Given the description of an element on the screen output the (x, y) to click on. 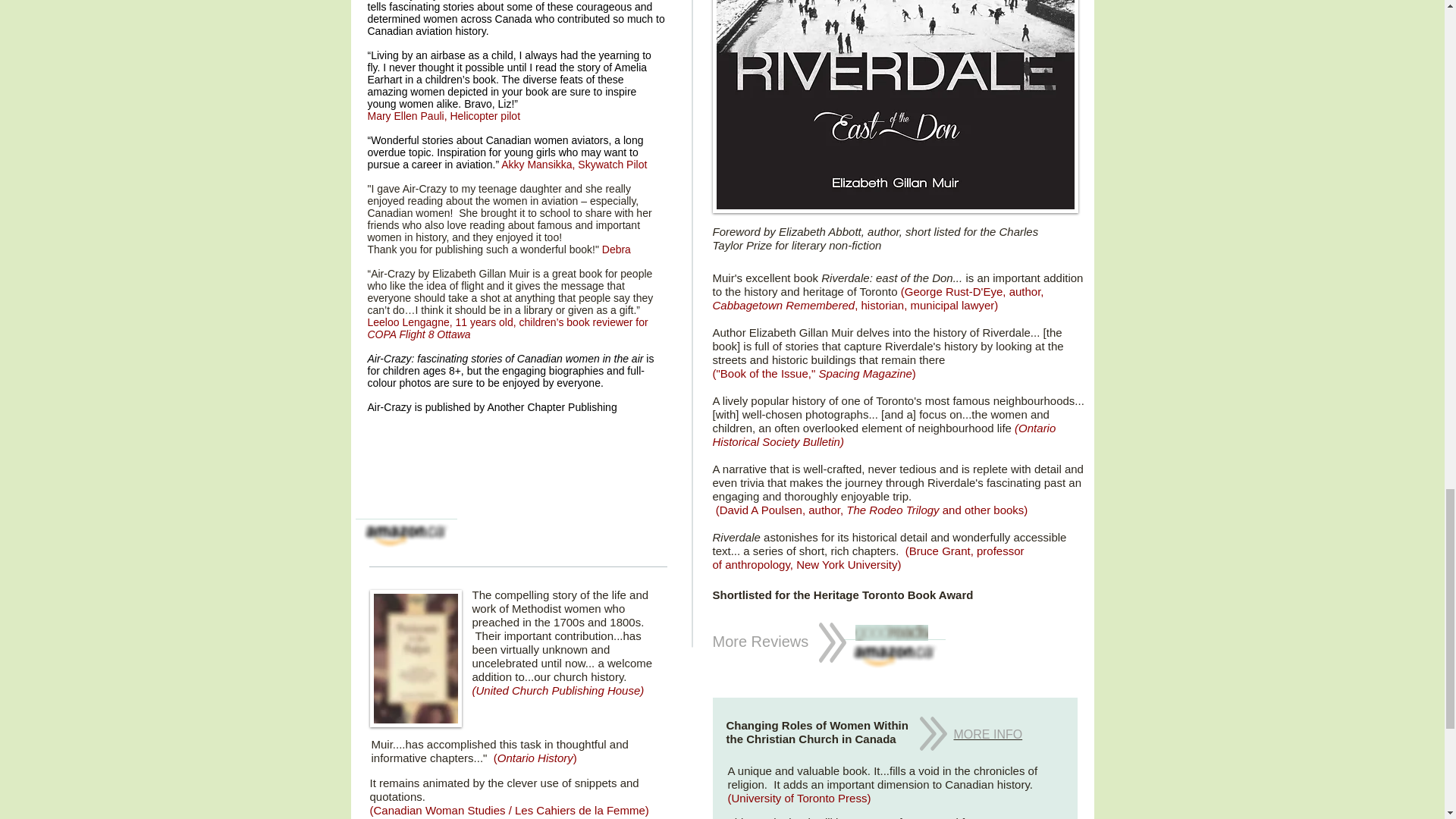
Amazon.ca logo.png (406, 535)
the Christian Church in Canada (811, 738)
Riverdalev cover.jpg (895, 106)
Petticots and Pulpit small.jpg (415, 658)
Changing Roles of Women Within (817, 725)
Amazon.ca logo.png (893, 656)
MORE INFO (988, 734)
